Given the description of an element on the screen output the (x, y) to click on. 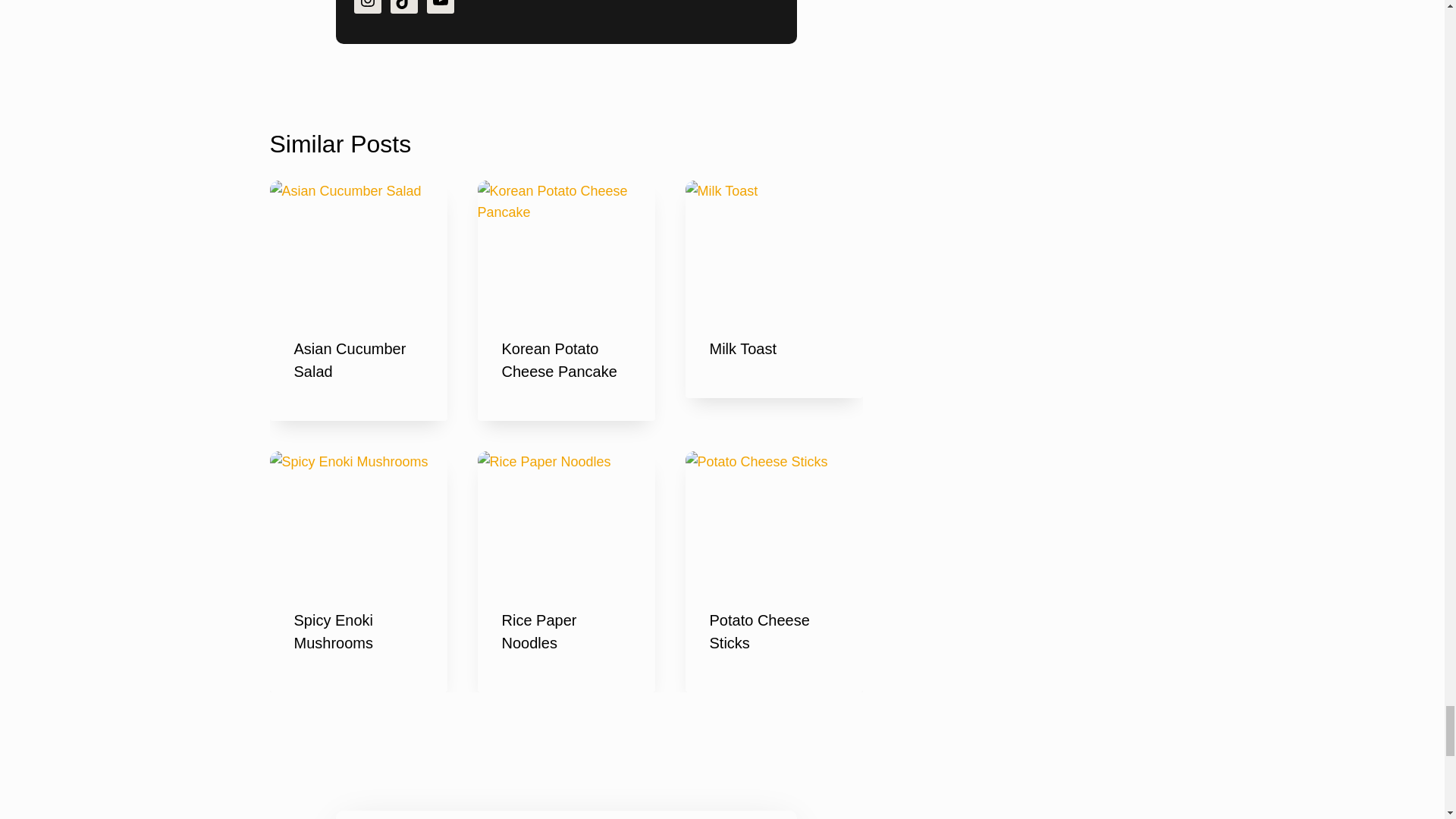
YouTube (439, 6)
Milk Toast (743, 348)
Potato Cheese Sticks (759, 631)
Korean Potato Cheese Pancake (559, 360)
Rice Paper Noodles (539, 631)
TikTok (403, 6)
Spicy Enoki Mushrooms (334, 631)
Instagram (366, 6)
Asian Cucumber Salad (350, 360)
